Given the description of an element on the screen output the (x, y) to click on. 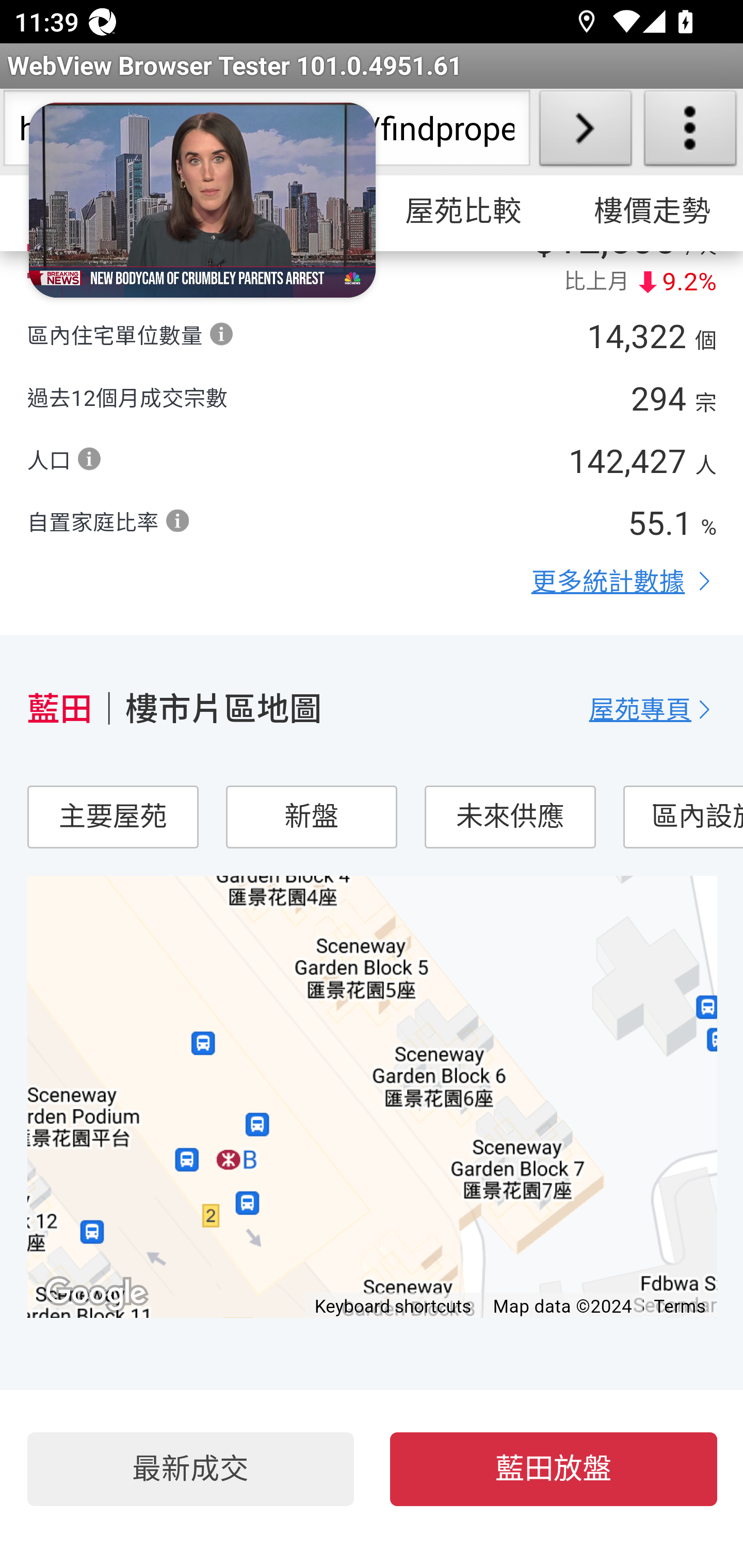
Load URL (585, 132)
About WebView (690, 132)
屋苑比較 (463, 212)
樓價走勢 (649, 212)
更多統計數據  (624, 582)
屋苑專頁  屋苑專頁  (653, 710)
主要屋苑 (112, 817)
新盤 (310, 817)
未來供應 (508, 817)
Keyboard shortcuts (393, 1306)
Terms (680, 1308)
最新成交 (190, 1469)
藍田放盤 (554, 1469)
